Given the description of an element on the screen output the (x, y) to click on. 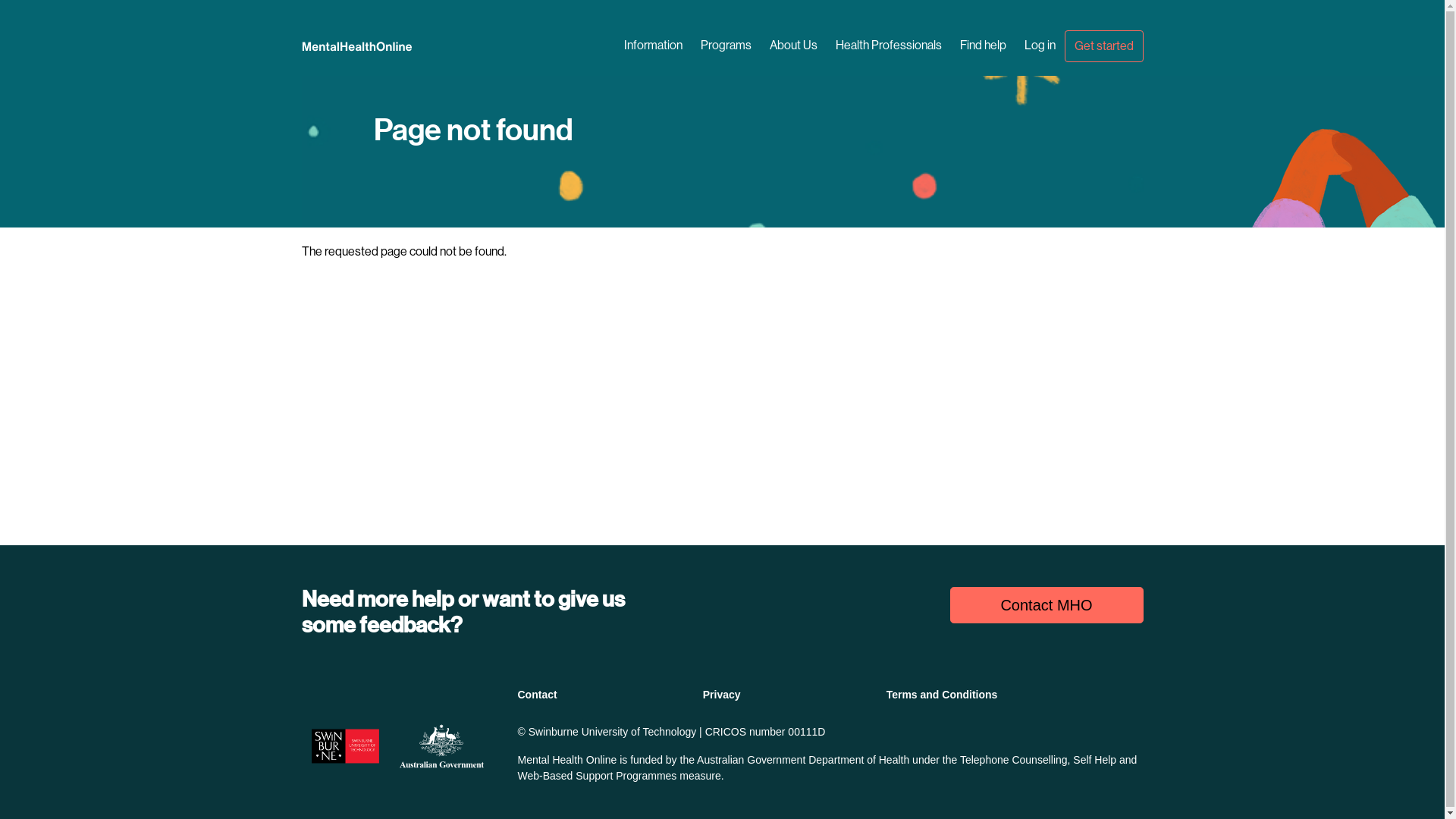
Contact MHO Element type: text (1045, 604)
Find help Element type: text (982, 45)
Information Element type: text (652, 45)
logo Created with Sketch. Element type: text (377, 46)
About Us Element type: text (792, 45)
Skip to main content Element type: text (721, 1)
Terms and Conditions Element type: text (945, 694)
Contact Element type: text (539, 694)
Get started Element type: text (1103, 46)
Privacy Element type: text (724, 694)
Health Professionals Element type: text (888, 45)
Programs Element type: text (725, 45)
Log in Element type: text (1038, 45)
